Given the description of an element on the screen output the (x, y) to click on. 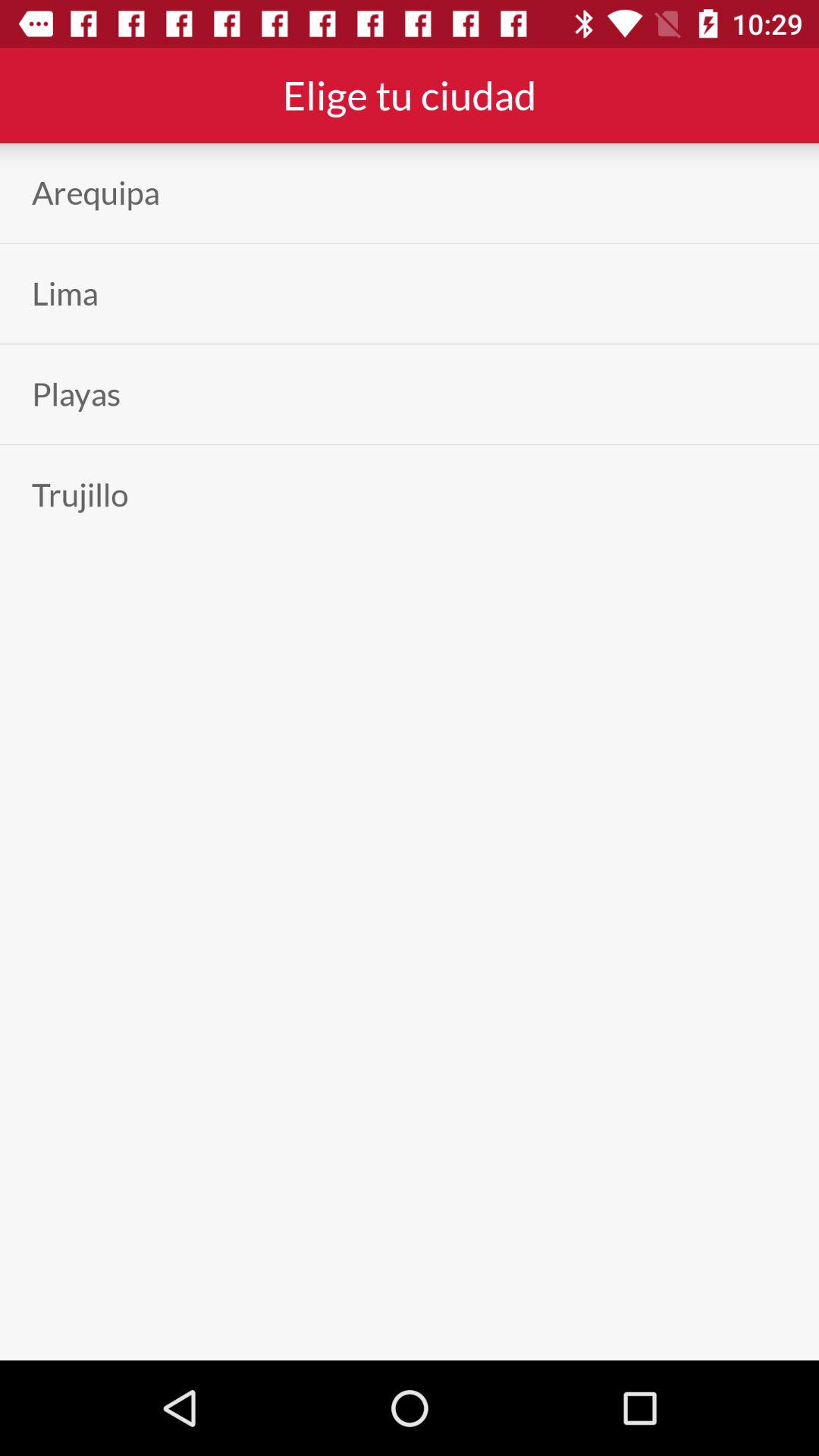
jump until the lima app (64, 293)
